Given the description of an element on the screen output the (x, y) to click on. 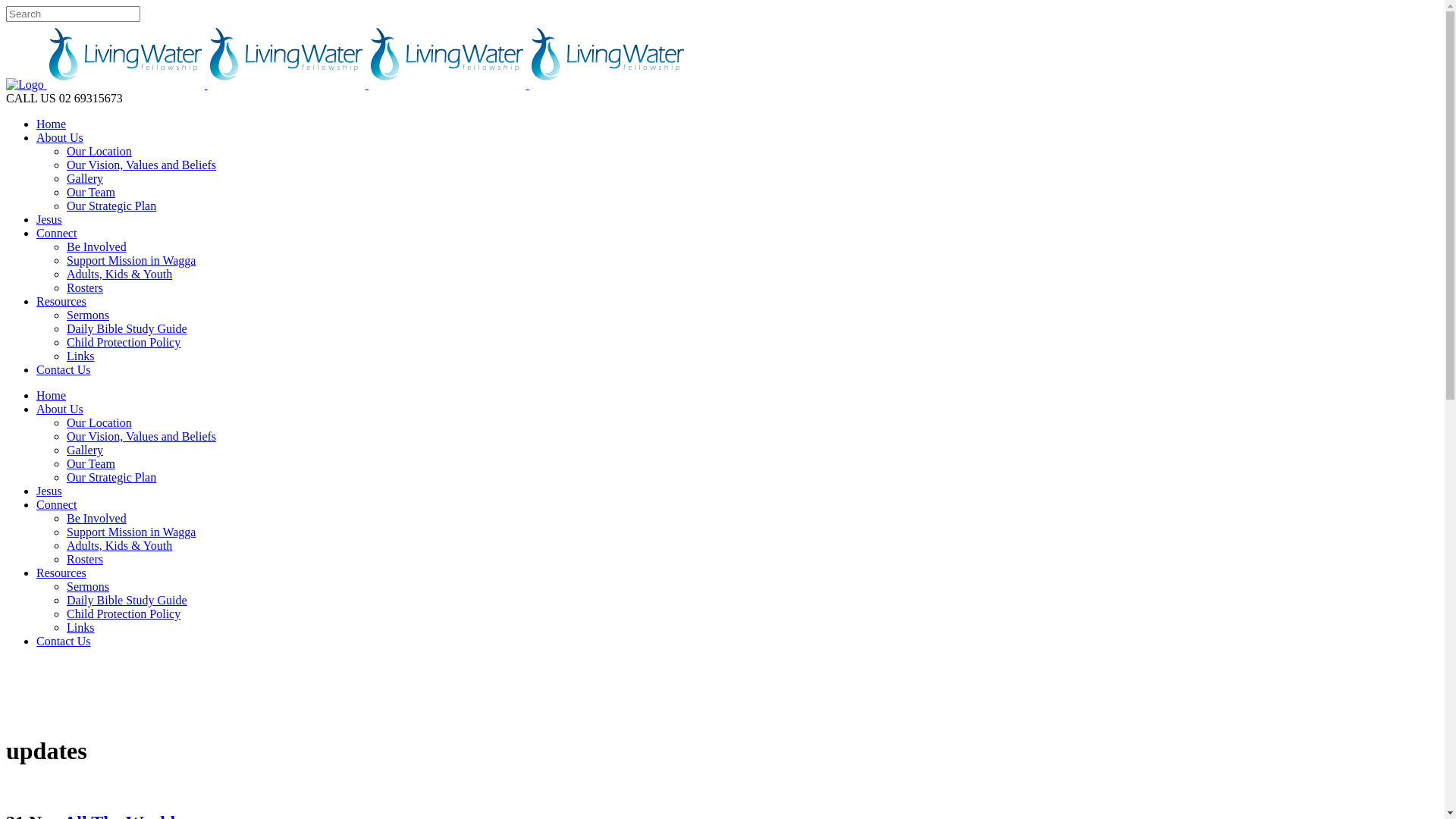
Daily Bible Study Guide Element type: text (126, 599)
Sermons Element type: text (87, 314)
Our Team Element type: text (90, 191)
Links Element type: text (80, 627)
Gallery Element type: text (84, 178)
Adults, Kids & Youth Element type: text (119, 545)
Sermons Element type: text (87, 586)
Jesus Element type: text (49, 490)
Child Protection Policy Element type: text (123, 613)
Support Mission in Wagga Element type: text (130, 531)
Links Element type: text (80, 355)
Rosters Element type: text (84, 287)
Resources Element type: text (61, 300)
Connect Element type: text (56, 504)
Contact Us Element type: text (63, 640)
Child Protection Policy Element type: text (123, 341)
Our Strategic Plan Element type: text (111, 476)
Jesus Element type: text (49, 219)
Our Location Element type: text (98, 422)
Home Element type: text (50, 123)
Our Vision, Values and Beliefs Element type: text (141, 164)
Our Team Element type: text (90, 463)
Adults, Kids & Youth Element type: text (119, 273)
Be Involved Element type: text (96, 517)
Support Mission in Wagga Element type: text (130, 260)
Connect Element type: text (56, 232)
Our Location Element type: text (98, 150)
Resources Element type: text (61, 572)
Rosters Element type: text (84, 558)
Gallery Element type: text (84, 449)
About Us Element type: text (59, 137)
Our Vision, Values and Beliefs Element type: text (141, 435)
About Us Element type: text (59, 408)
Contact Us Element type: text (63, 369)
Daily Bible Study Guide Element type: text (126, 328)
Our Strategic Plan Element type: text (111, 205)
Be Involved Element type: text (96, 246)
Home Element type: text (50, 395)
